Given the description of an element on the screen output the (x, y) to click on. 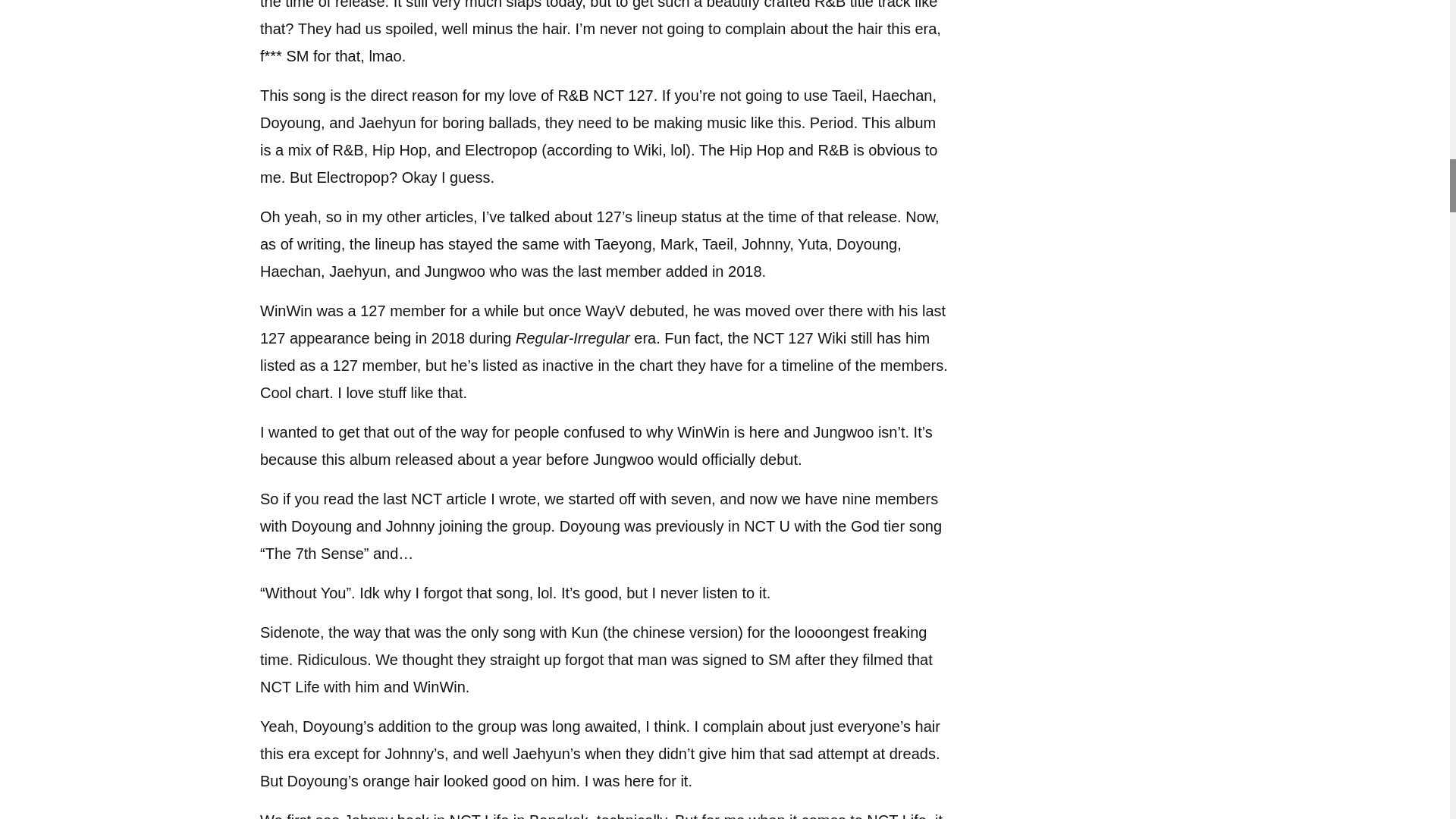
wrote (517, 498)
Wiki (831, 338)
NCT Life (290, 686)
